Given the description of an element on the screen output the (x, y) to click on. 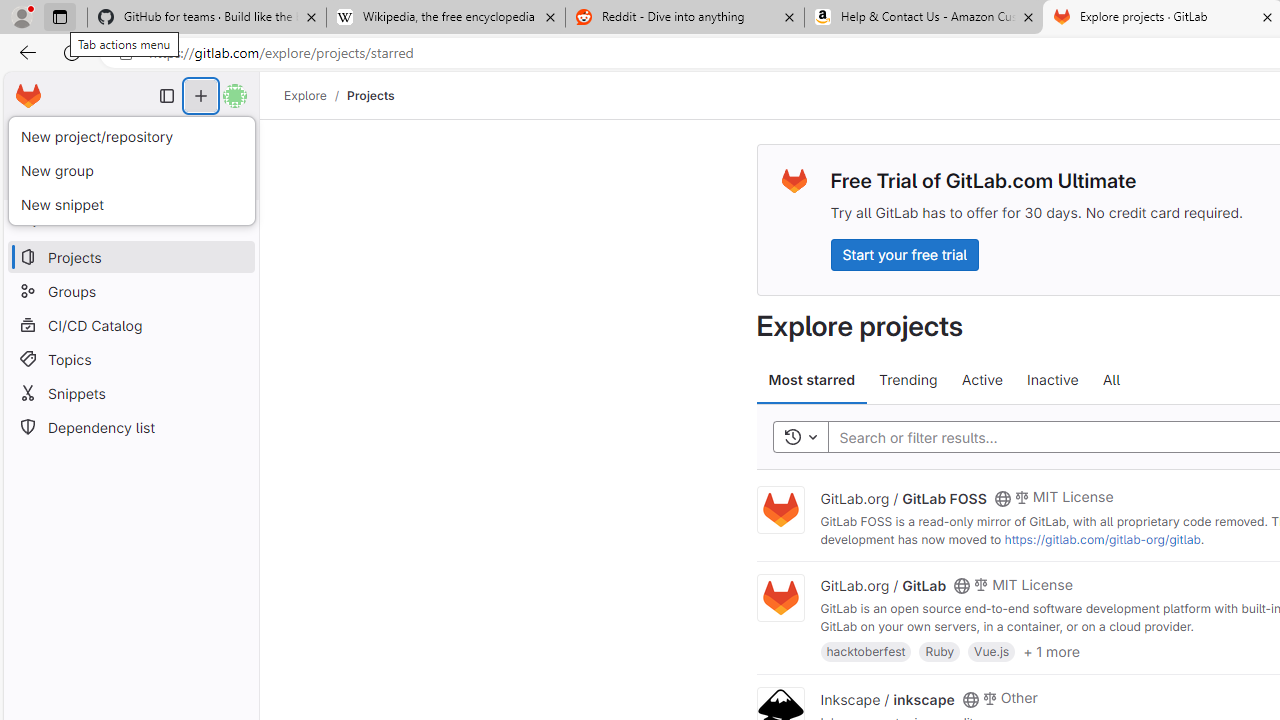
GitLab.org / GitLab (883, 585)
CI/CD Catalog (130, 325)
New group (131, 170)
Topics (130, 358)
Most starred (811, 379)
Dependency list (130, 427)
New snippet (131, 204)
Class: project (780, 597)
Projects (370, 95)
Inkscape / inkscape (887, 698)
Snippets (130, 393)
Topics (130, 358)
